Given the description of an element on the screen output the (x, y) to click on. 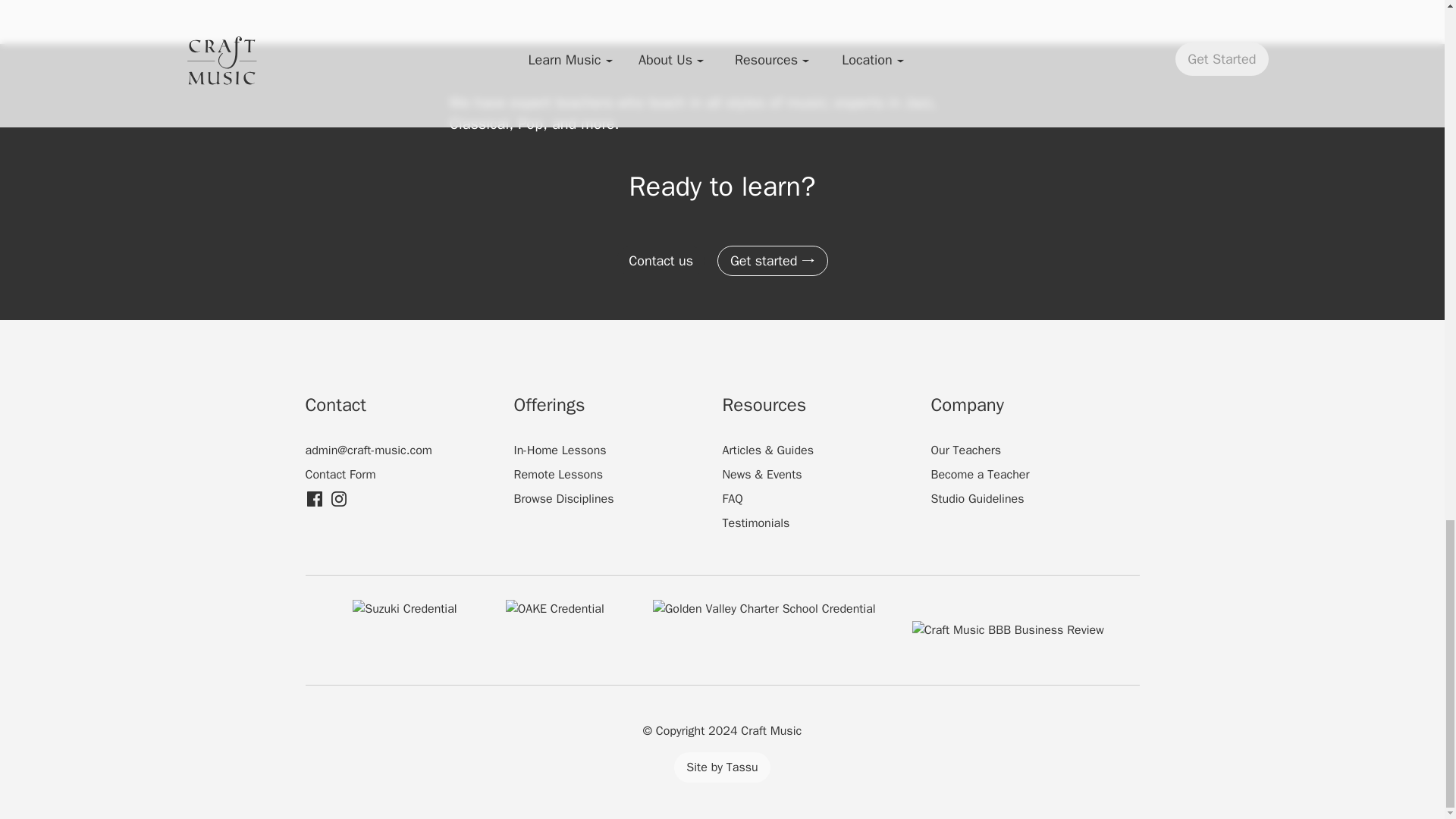
Contact Form (339, 474)
Become a Teacher (980, 474)
In-Home Lessons (560, 450)
Our Teachers (966, 450)
FAQ (732, 498)
Contact us (659, 260)
Studio Guidelines (978, 498)
Remote Lessons (558, 474)
Testimonials (755, 522)
Browse Disciplines (563, 498)
